Given the description of an element on the screen output the (x, y) to click on. 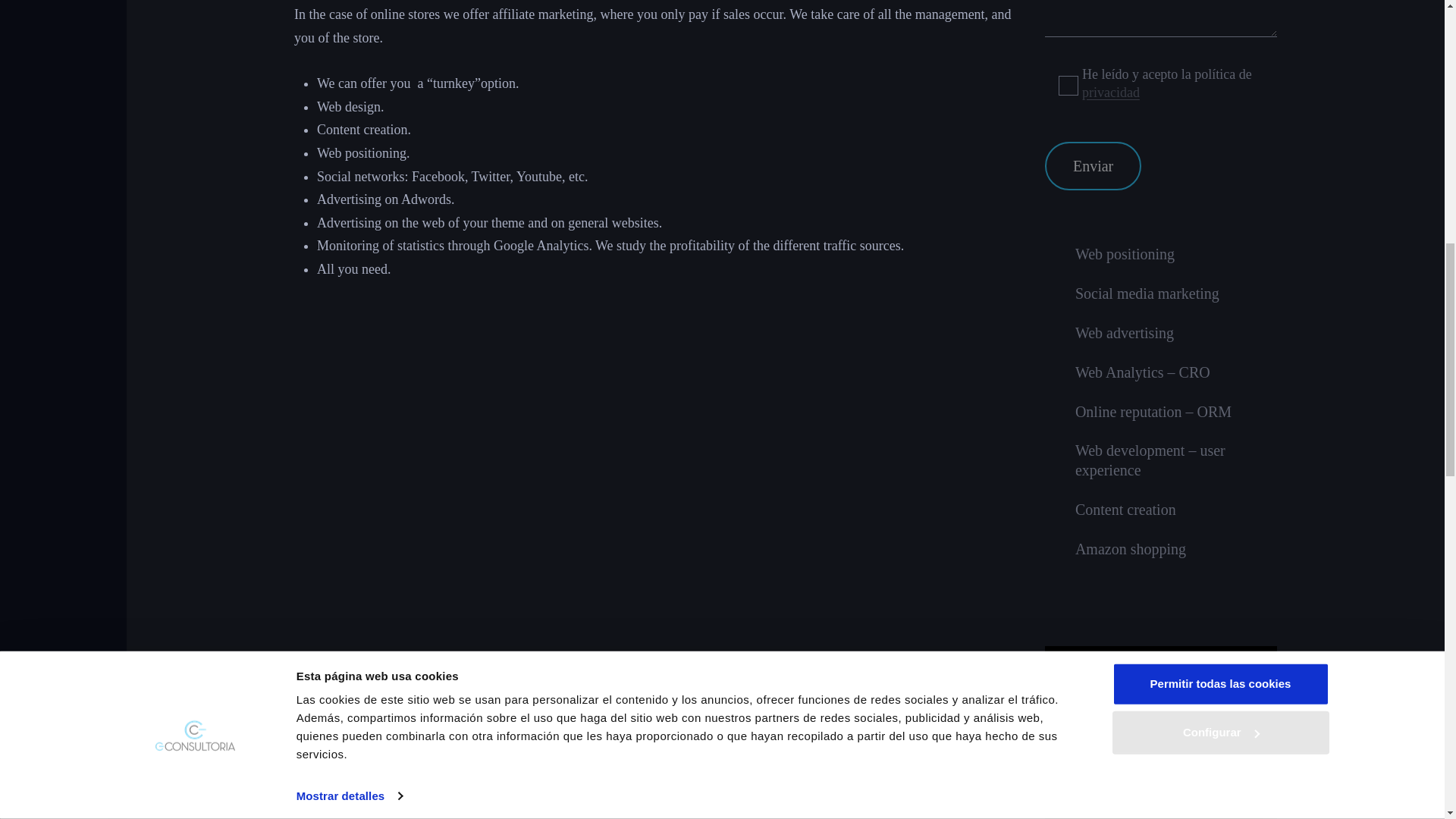
Enviar (1093, 165)
1 (1068, 85)
